Given the description of an element on the screen output the (x, y) to click on. 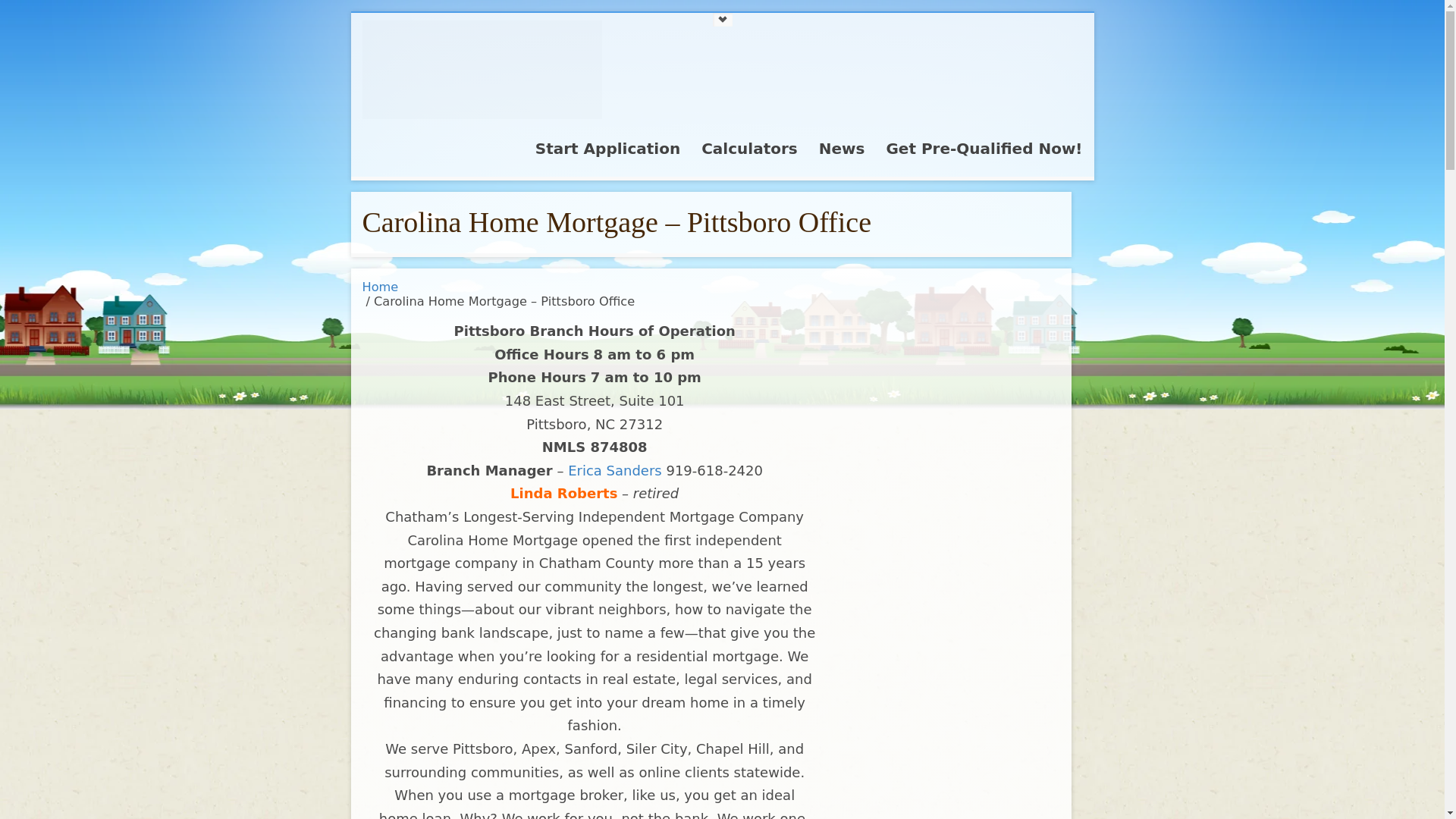
Linda Roberts (564, 493)
Get Pre-Qualified Now! (983, 153)
Erica Sanders (614, 470)
Home (380, 287)
Calculators (749, 153)
News (841, 153)
Start Application (607, 153)
